Given the description of an element on the screen output the (x, y) to click on. 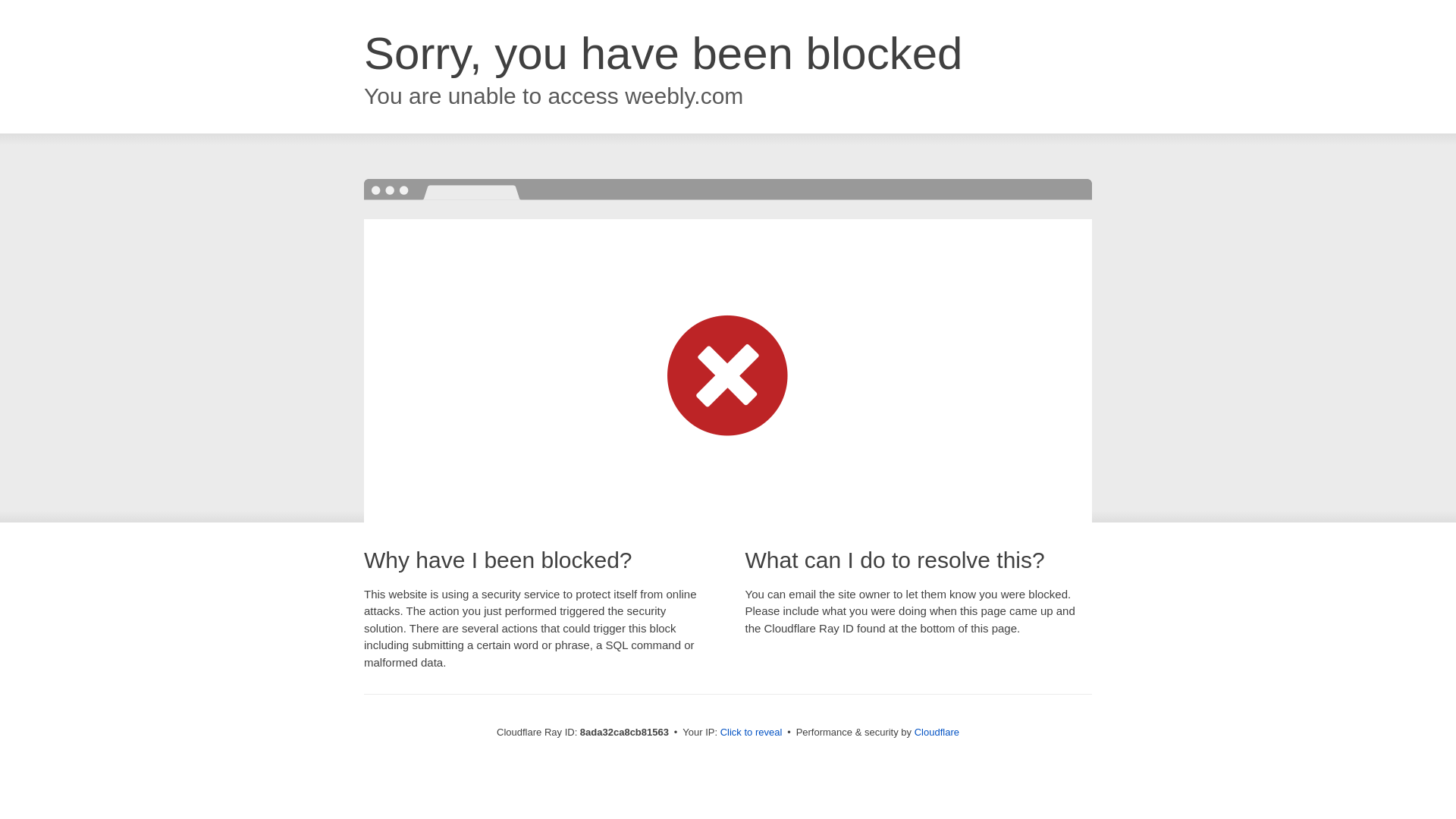
Cloudflare (936, 731)
Click to reveal (751, 732)
